Given the description of an element on the screen output the (x, y) to click on. 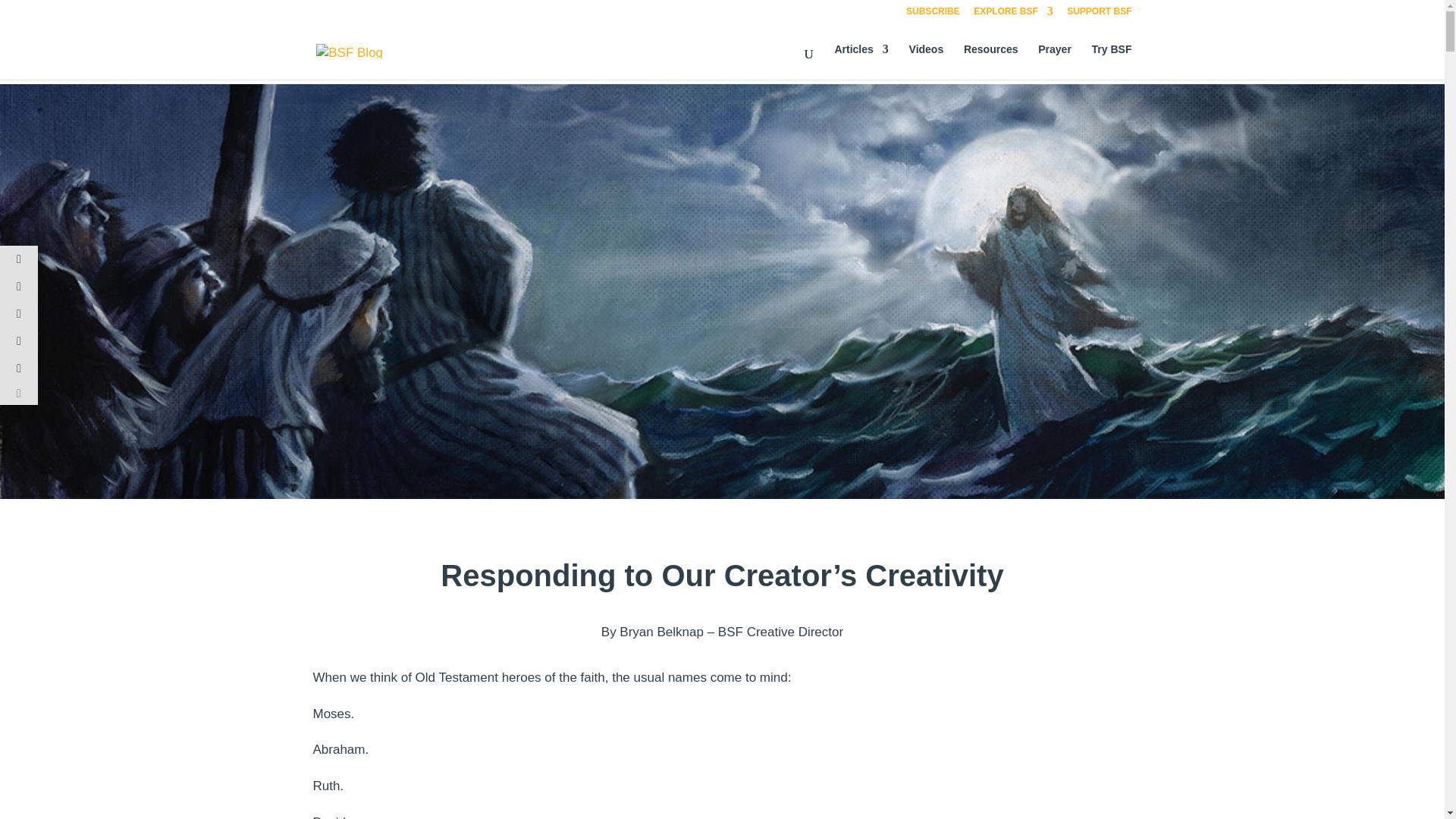
Try BSF (1112, 61)
Resources (990, 61)
Articles (861, 61)
SUPPORT BSF (1099, 14)
Prayer (1054, 61)
EXPLORE BSF (1013, 14)
SUBSCRIBE (932, 14)
Videos (925, 61)
